Given the description of an element on the screen output the (x, y) to click on. 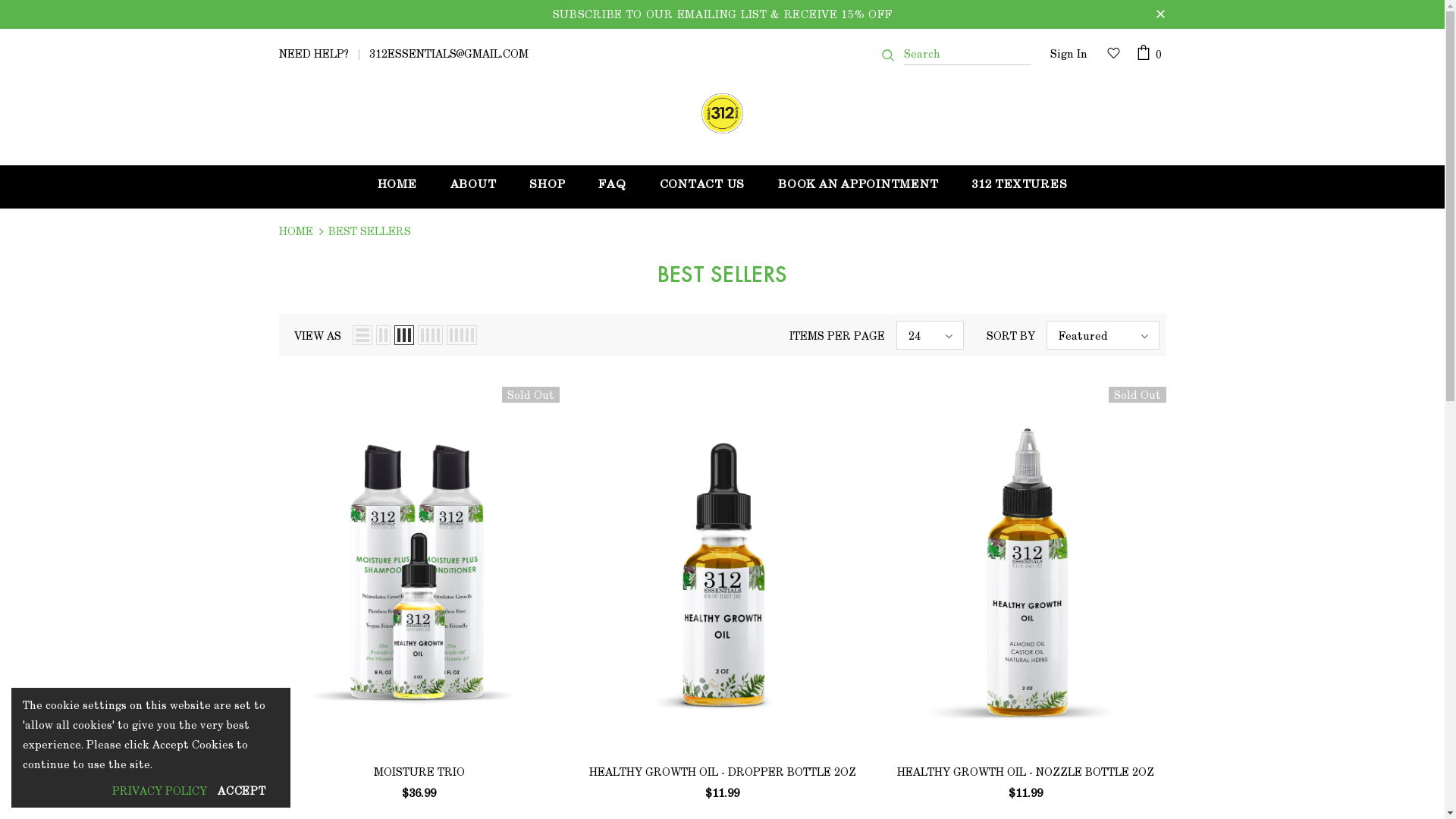
HOME Element type: text (397, 186)
CONTACT US Element type: text (702, 186)
PRIVACY POLICY Element type: text (159, 790)
SHOP Element type: text (546, 186)
HEALTHY GROWTH OIL - DROPPER BOTTLE 2OZ Element type: text (722, 771)
MOISTURE TRIO Element type: text (419, 771)
0 Element type: text (1150, 53)
312 TEXTURES Element type: text (1018, 186)
HOME Element type: text (296, 231)
Logo Element type: hover (721, 115)
HEALTHY GROWTH OIL - NOZZLE BOTTLE 2OZ Element type: text (1025, 771)
Sign In Element type: text (1067, 54)
ABOUT Element type: text (473, 186)
BOOK AN APPOINTMENT Element type: text (858, 186)
BEST SELLERS Element type: text (368, 231)
close Element type: hover (1159, 13)
FAQ Element type: text (611, 186)
